Given the description of an element on the screen output the (x, y) to click on. 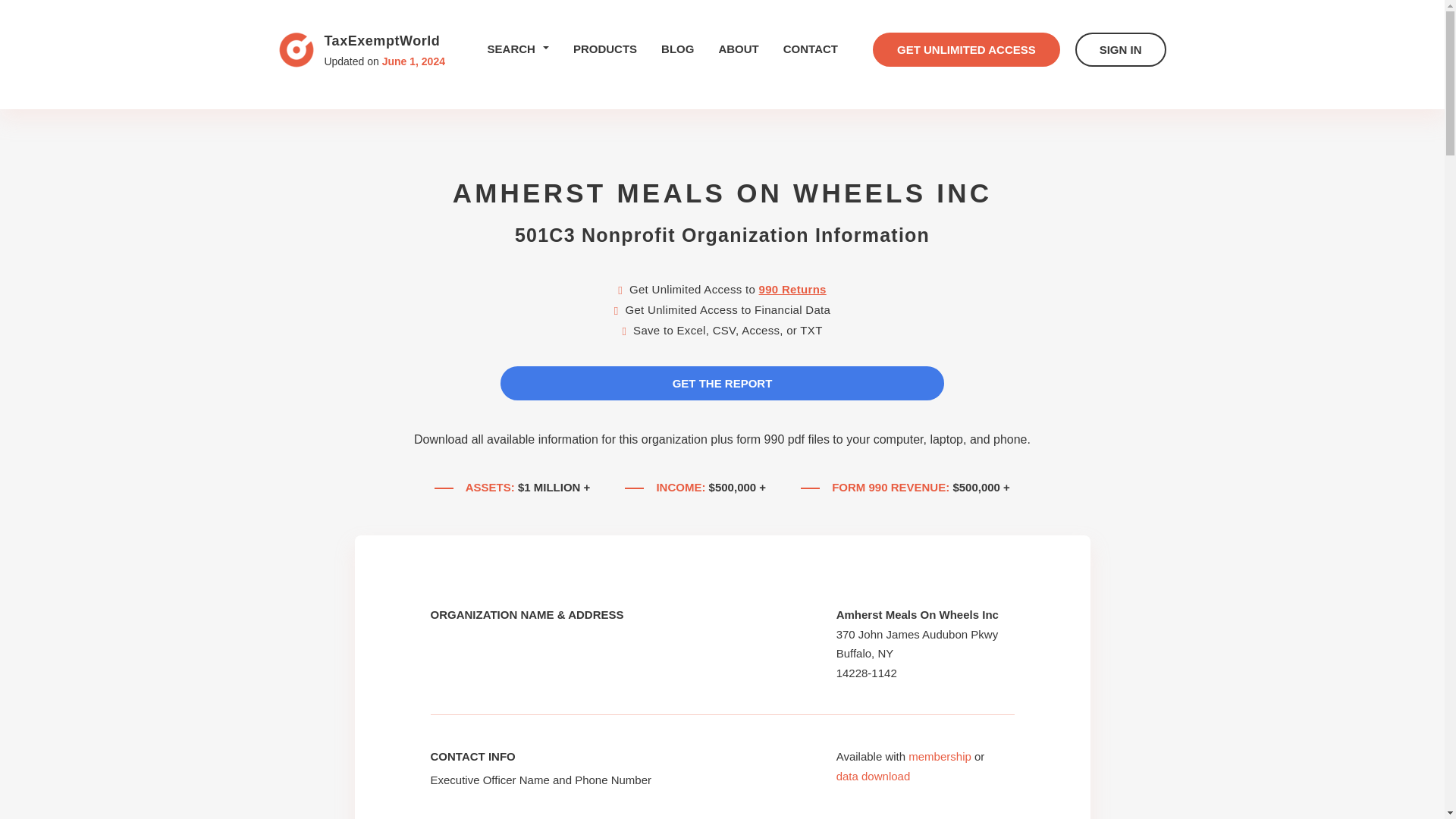
form 990 pdf files (782, 439)
BLOG (677, 48)
Search Nonprofits (517, 48)
CONTACT (810, 48)
GET UNLIMITED ACCESS (965, 49)
GET THE REPORT (721, 383)
TaxExemptWorld.com (296, 49)
membership (939, 756)
PRODUCTS (605, 48)
SIGN IN (362, 49)
ABOUT (1120, 49)
990 Returns (737, 48)
data download (792, 288)
SEARCH (873, 775)
